Given the description of an element on the screen output the (x, y) to click on. 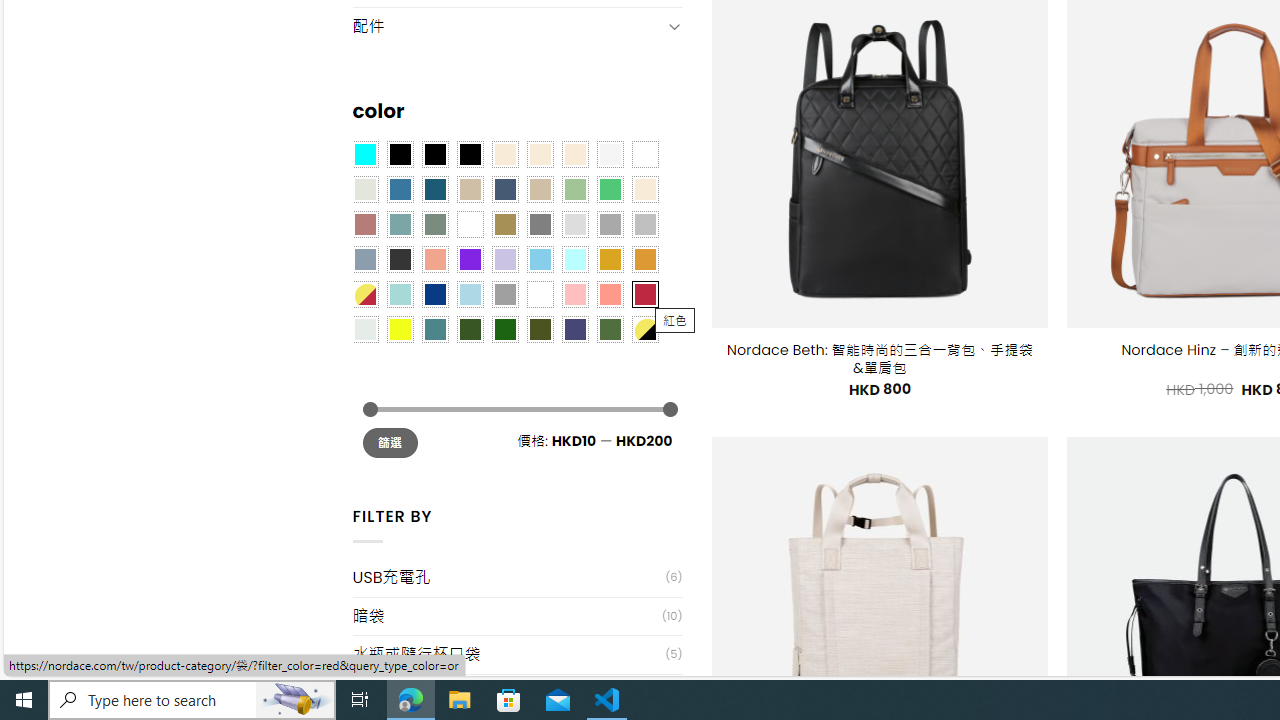
Dull Nickle (364, 329)
Cream (574, 154)
